Given the description of an element on the screen output the (x, y) to click on. 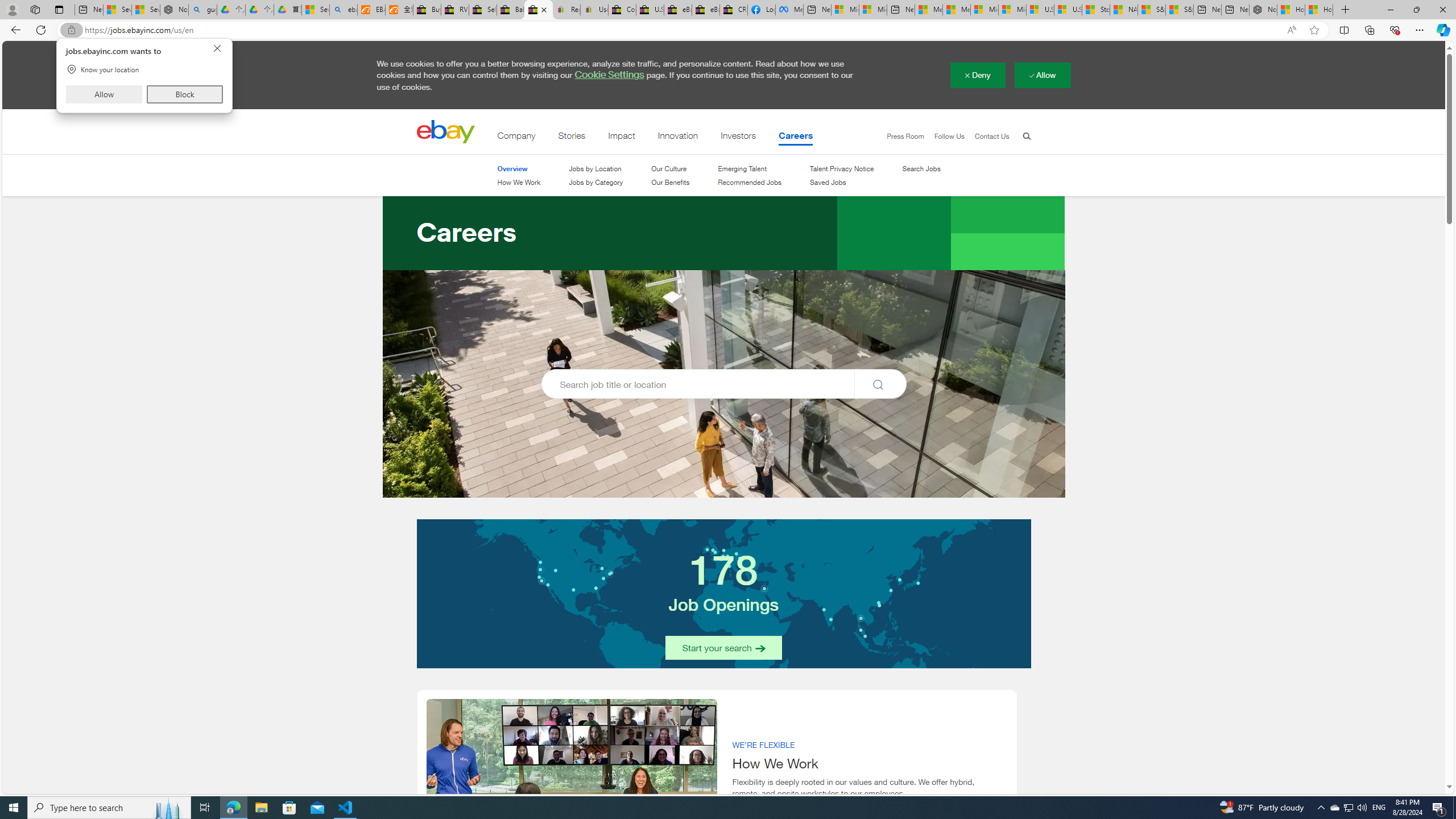
How to Use a Monitor With Your Closed Laptop (1319, 9)
Follow Us (948, 135)
Show desktop (1454, 807)
Investors (738, 138)
Innovation (678, 138)
Home (445, 132)
Jobs by Location (596, 168)
How We Work (518, 182)
Press Room (905, 135)
